Given the description of an element on the screen output the (x, y) to click on. 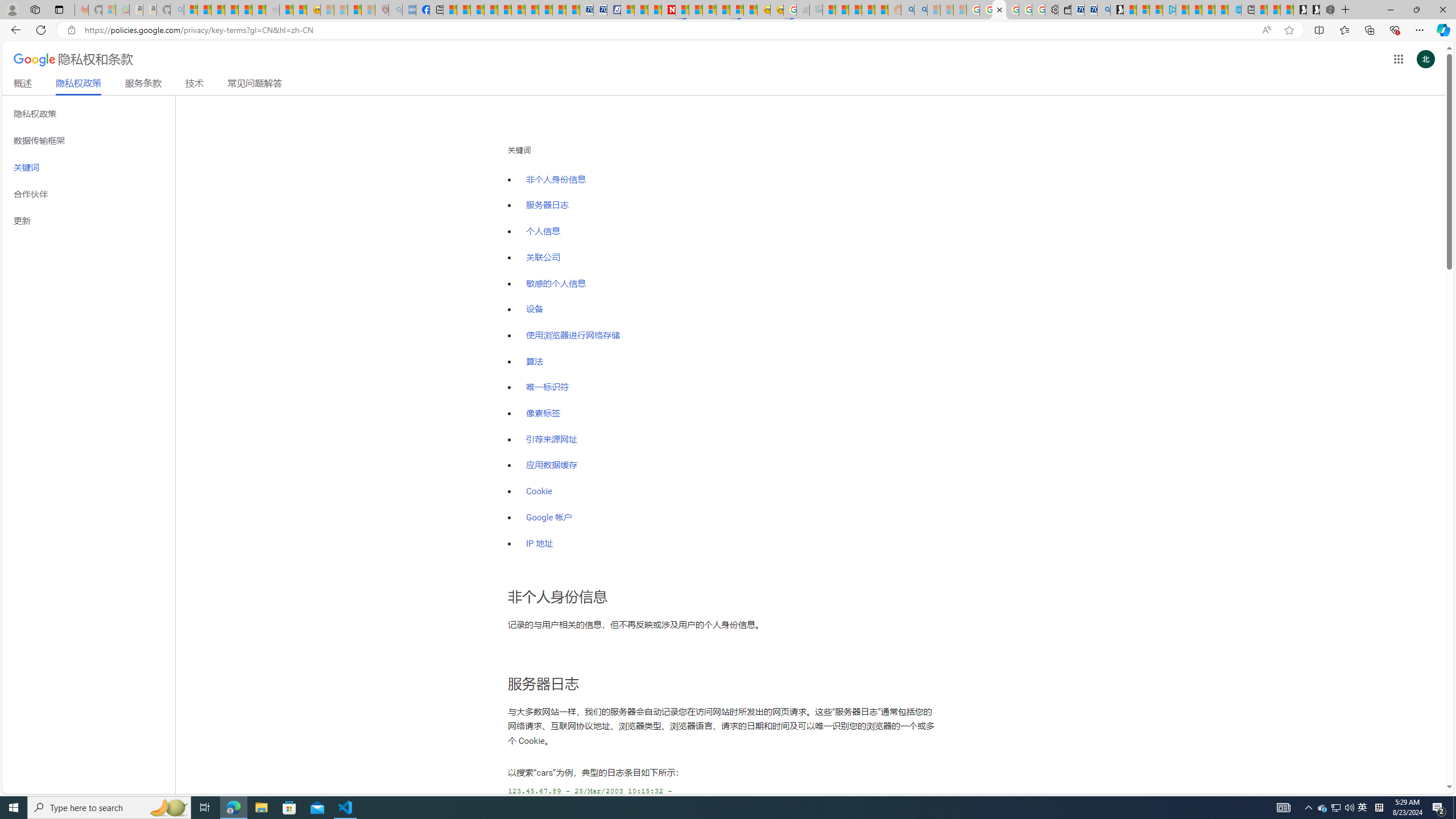
14 Common Myths Debunked By Scientific Facts (695, 9)
New Report Confirms 2023 Was Record Hot | Watch (245, 9)
